Given the description of an element on the screen output the (x, y) to click on. 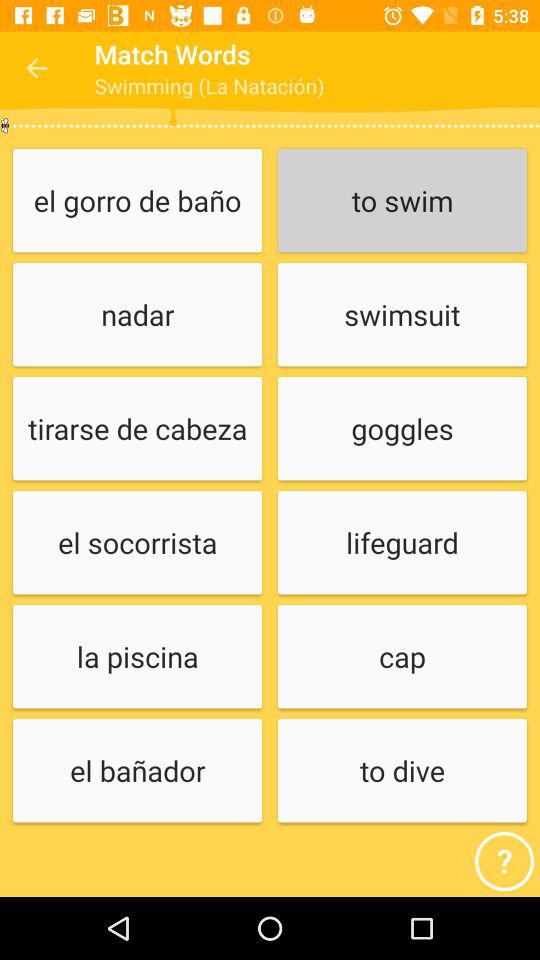
swipe until the nadar item (137, 315)
